Given the description of an element on the screen output the (x, y) to click on. 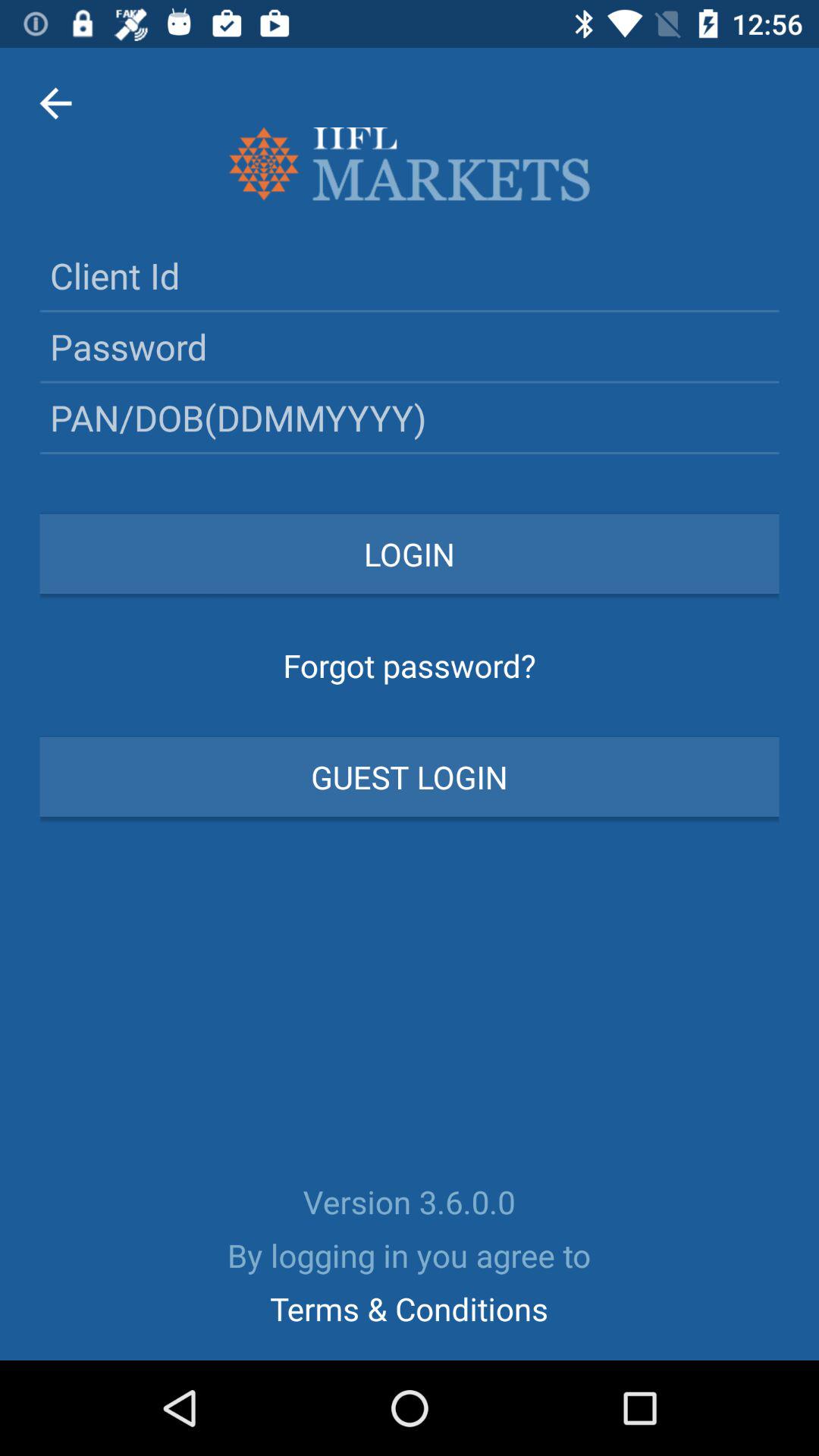
pan date of birth (409, 417)
